Given the description of an element on the screen output the (x, y) to click on. 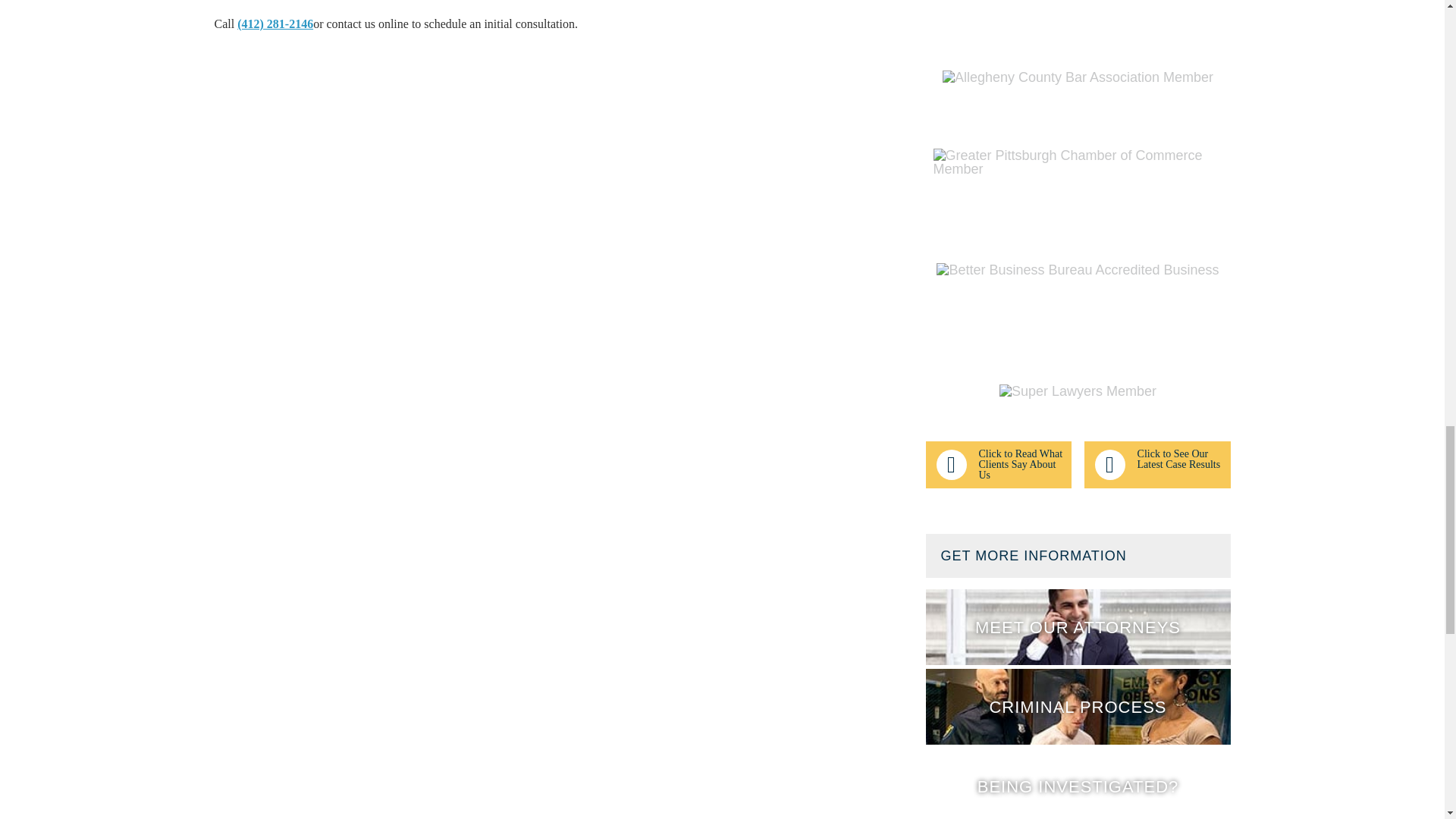
Being Investigated? (1077, 783)
Call Worgul, Sarna and Ness Today (275, 23)
Meet our Attorneys (1077, 626)
Criminal Process (1077, 706)
